Given the description of an element on the screen output the (x, y) to click on. 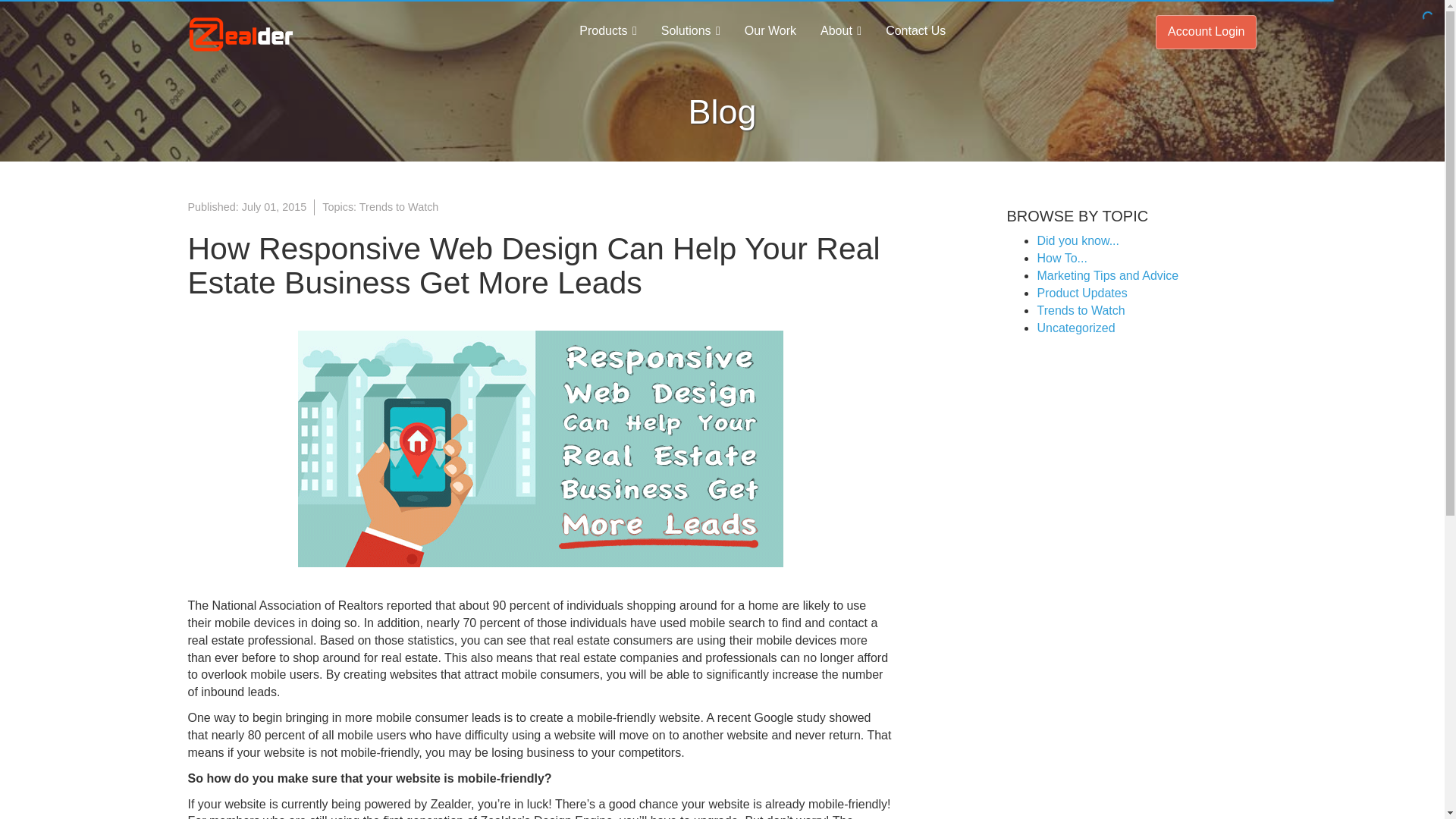
Products (607, 31)
Our Work (770, 31)
Solutions (690, 31)
About (840, 31)
How To... (1061, 257)
Account Login (1206, 32)
Contact Us (915, 31)
Did you know... (1077, 240)
